Given the description of an element on the screen output the (x, y) to click on. 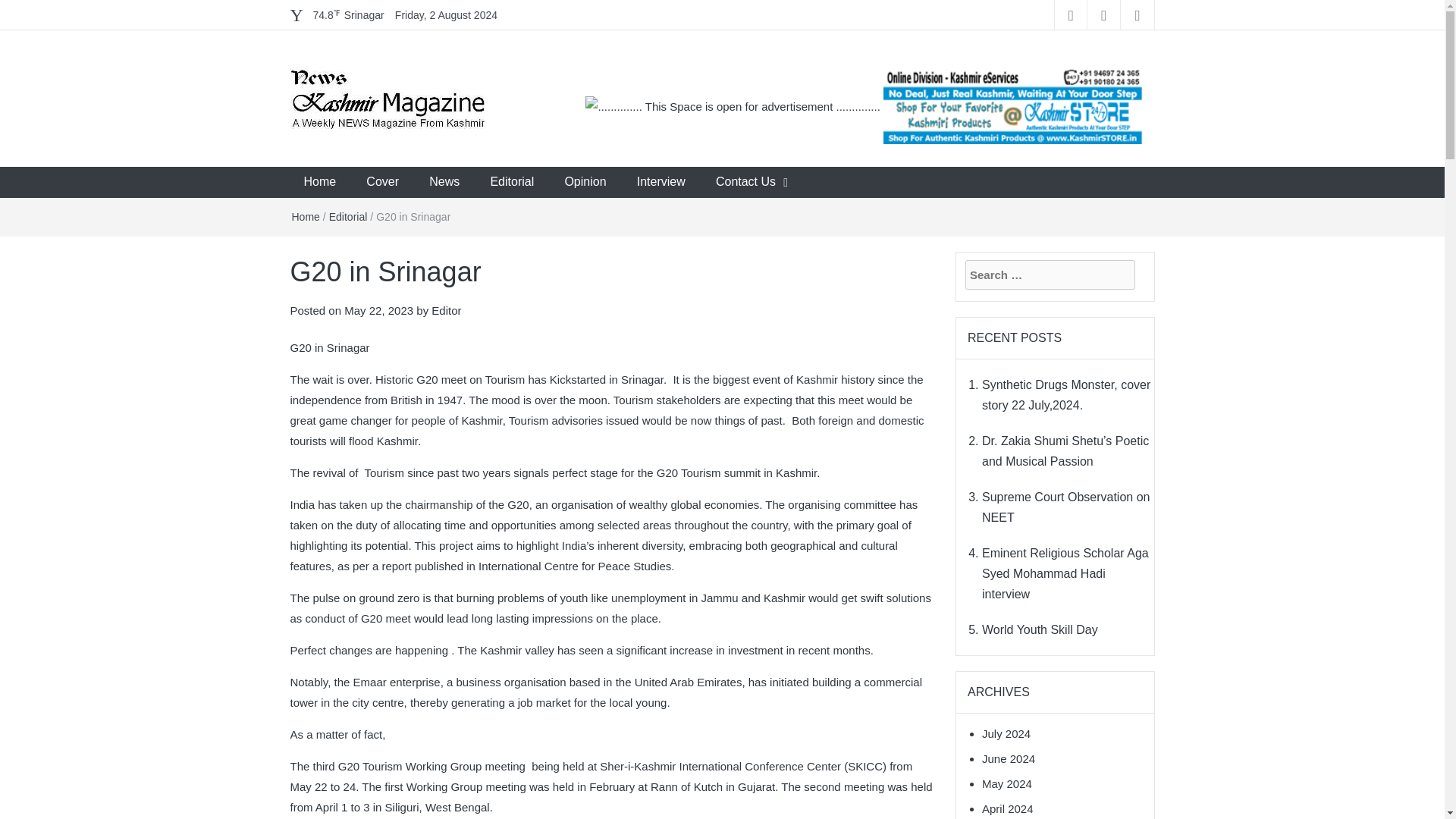
Opinion (585, 182)
May 22, 2023 (378, 309)
Editor (445, 309)
News (443, 182)
Editorial (348, 216)
Interview (660, 182)
Editorial (511, 182)
Home (319, 182)
Clouds (348, 14)
News Kashmir Magazine (431, 169)
Contact Us (745, 182)
Home (304, 216)
262x220 Ads (1012, 97)
Cover (382, 182)
